Given the description of an element on the screen output the (x, y) to click on. 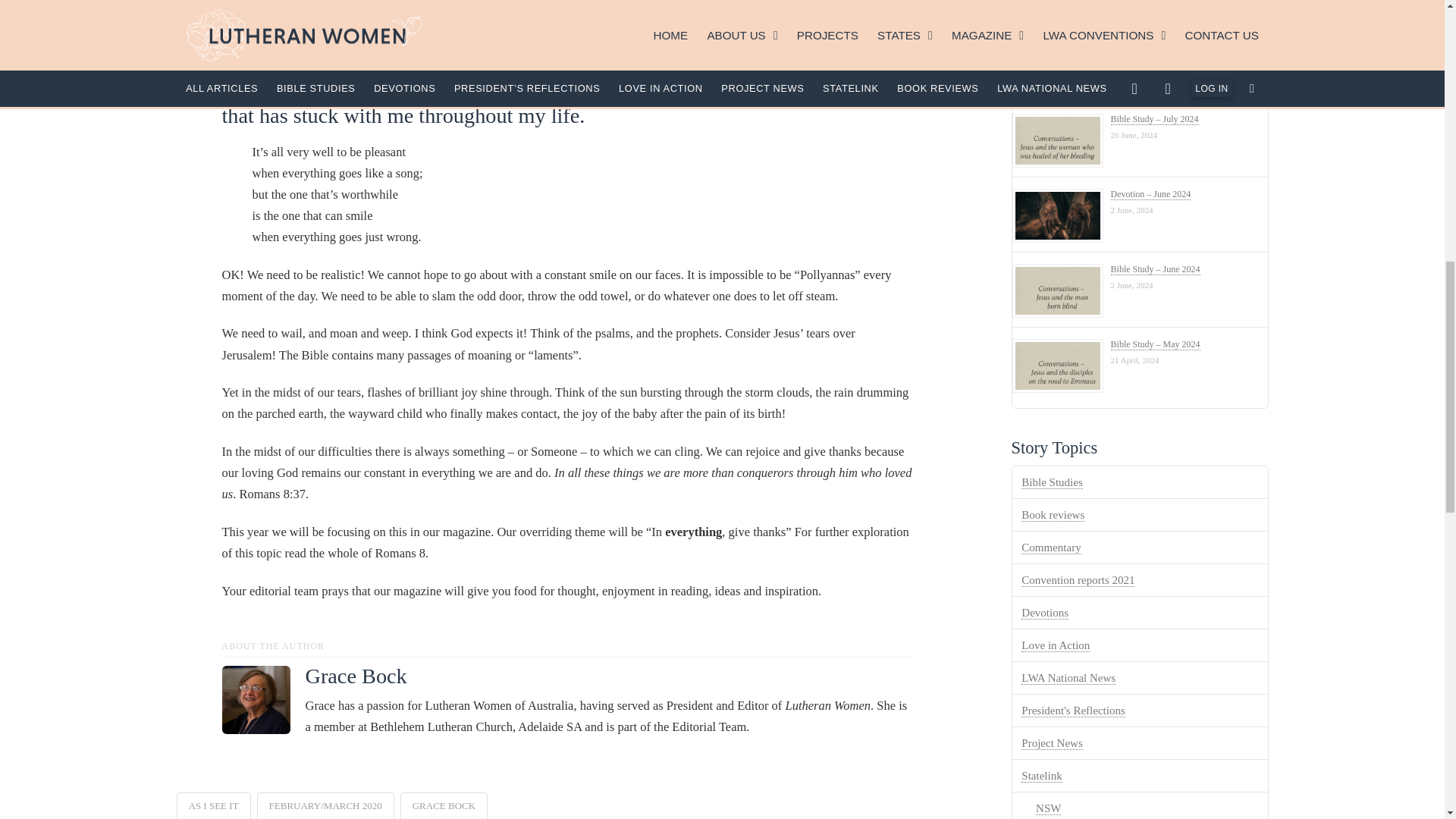
AS I SEE IT (213, 805)
GRACE BOCK (443, 805)
